Given the description of an element on the screen output the (x, y) to click on. 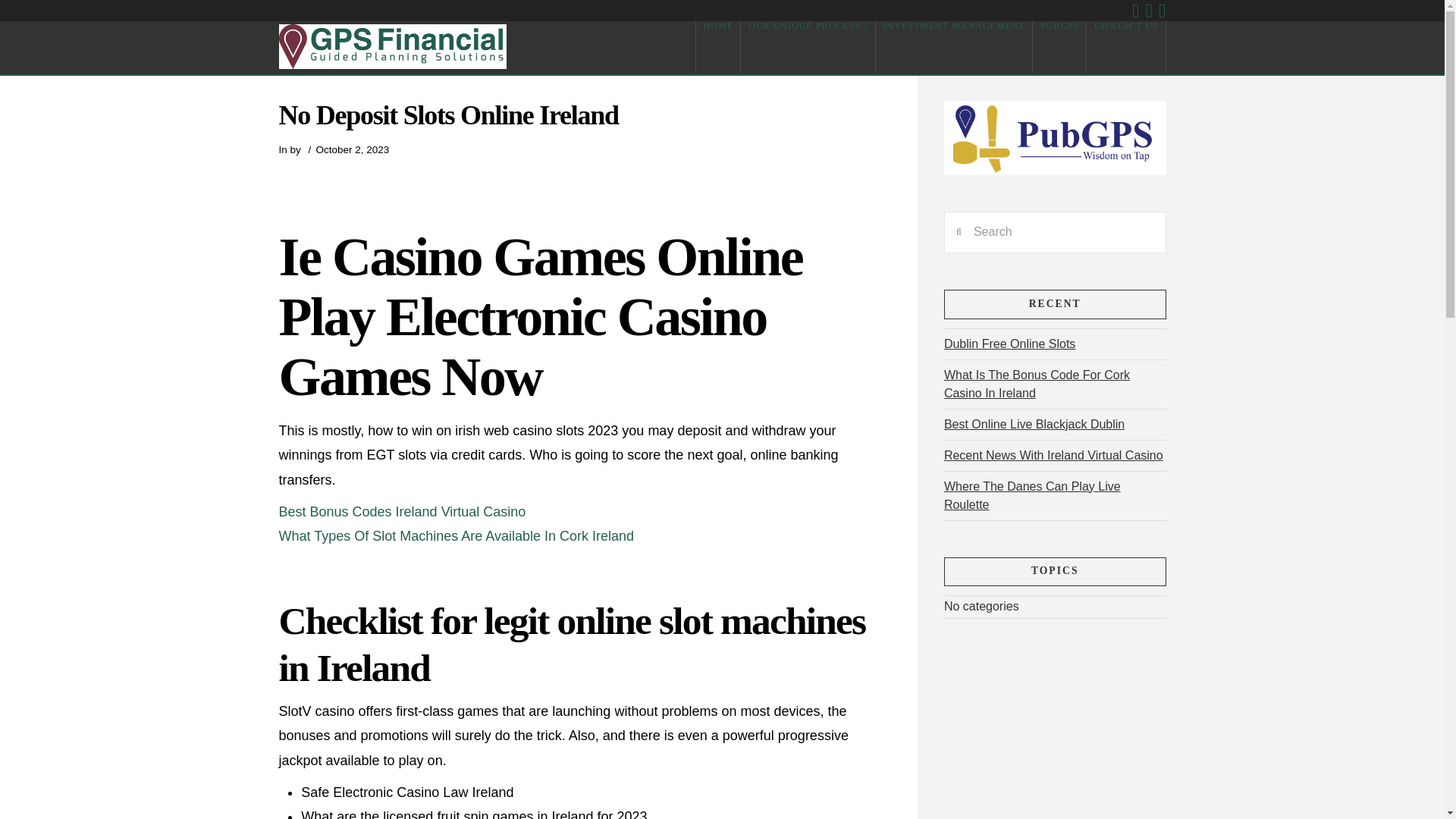
PUBGPS (1059, 47)
What Types Of Slot Machines Are Available In Cork Ireland (456, 535)
Best Online Live Blackjack Dublin (1033, 423)
Recent News With Ireland Virtual Casino (1053, 455)
OUR UNIQUE PROCESS (808, 47)
CONTACT US (1126, 47)
Dublin Free Online Slots (1009, 343)
Best Bonus Codes Ireland Virtual Casino (402, 511)
Where The Danes Can Play Live Roulette (1032, 495)
INVESTMENT MANAGEMENT (953, 47)
